Given the description of an element on the screen output the (x, y) to click on. 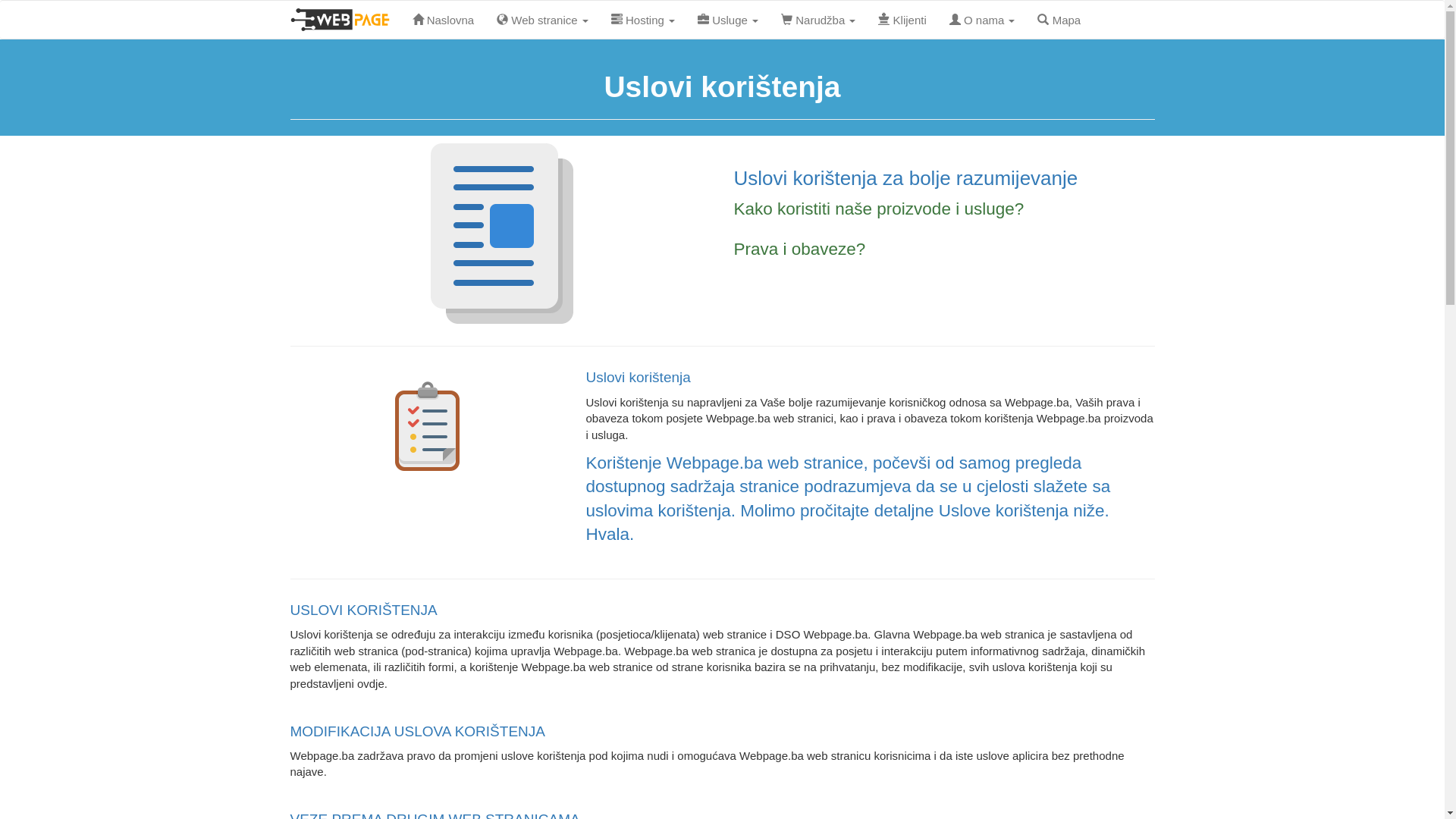
Klijenti Element type: text (901, 19)
Naslovna Element type: text (442, 19)
Mapa Element type: text (1059, 19)
Usluge Element type: text (727, 19)
Hosting Element type: text (642, 19)
Web stranice Element type: text (542, 19)
O nama Element type: text (982, 19)
